Given the description of an element on the screen output the (x, y) to click on. 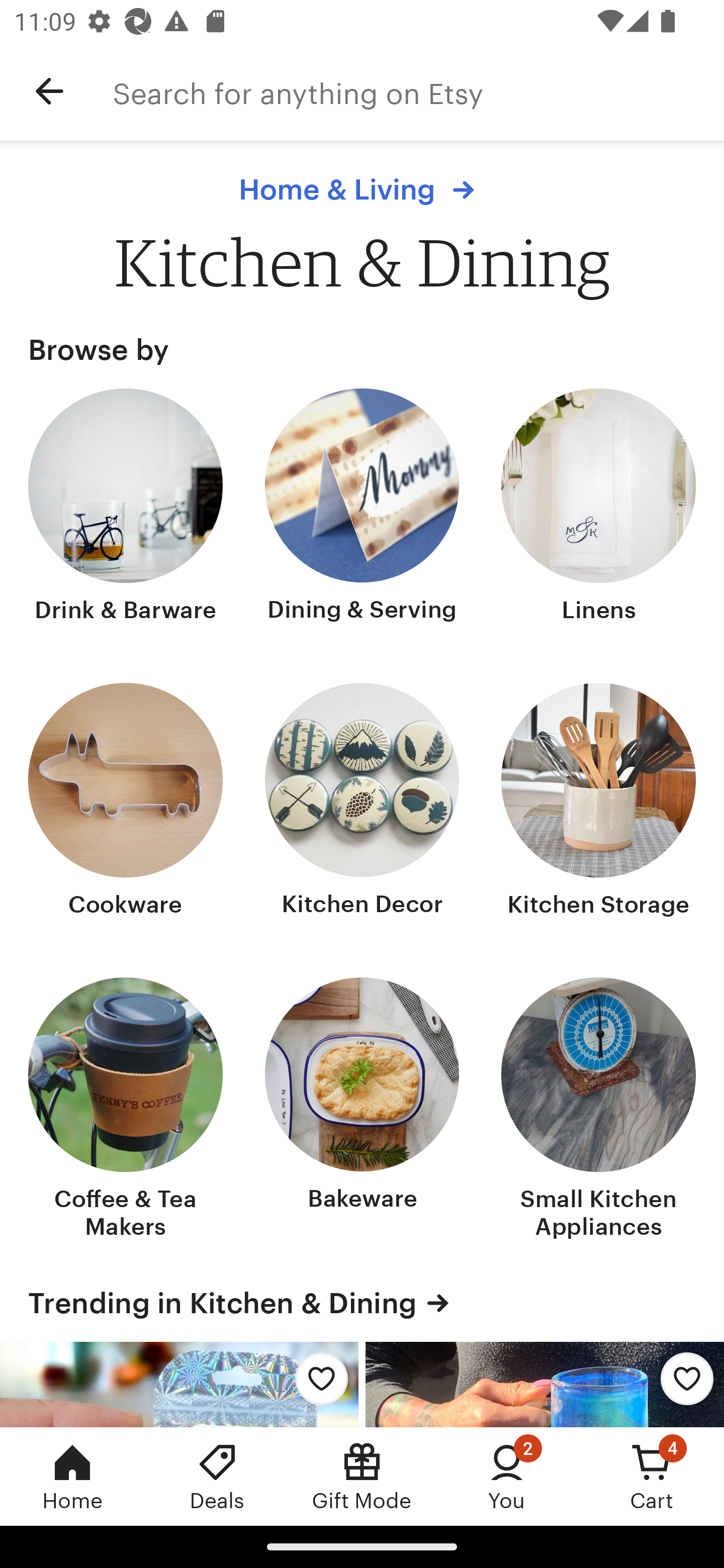
Navigate up (49, 91)
Search for anything on Etsy (418, 91)
Home & Living (361, 189)
Drink & Barware (125, 507)
Dining & Serving (361, 507)
Linens (598, 507)
Cookware (125, 802)
Kitchen Decor (361, 802)
Kitchen Storage (598, 802)
Coffee & Tea Makers (125, 1109)
Bakeware (361, 1109)
Small Kitchen Appliances (598, 1109)
Trending in Kitchen & Dining  (361, 1302)
Deals (216, 1475)
Gift Mode (361, 1475)
You, 2 new notifications You (506, 1475)
Cart, 4 new notifications Cart (651, 1475)
